Given the description of an element on the screen output the (x, y) to click on. 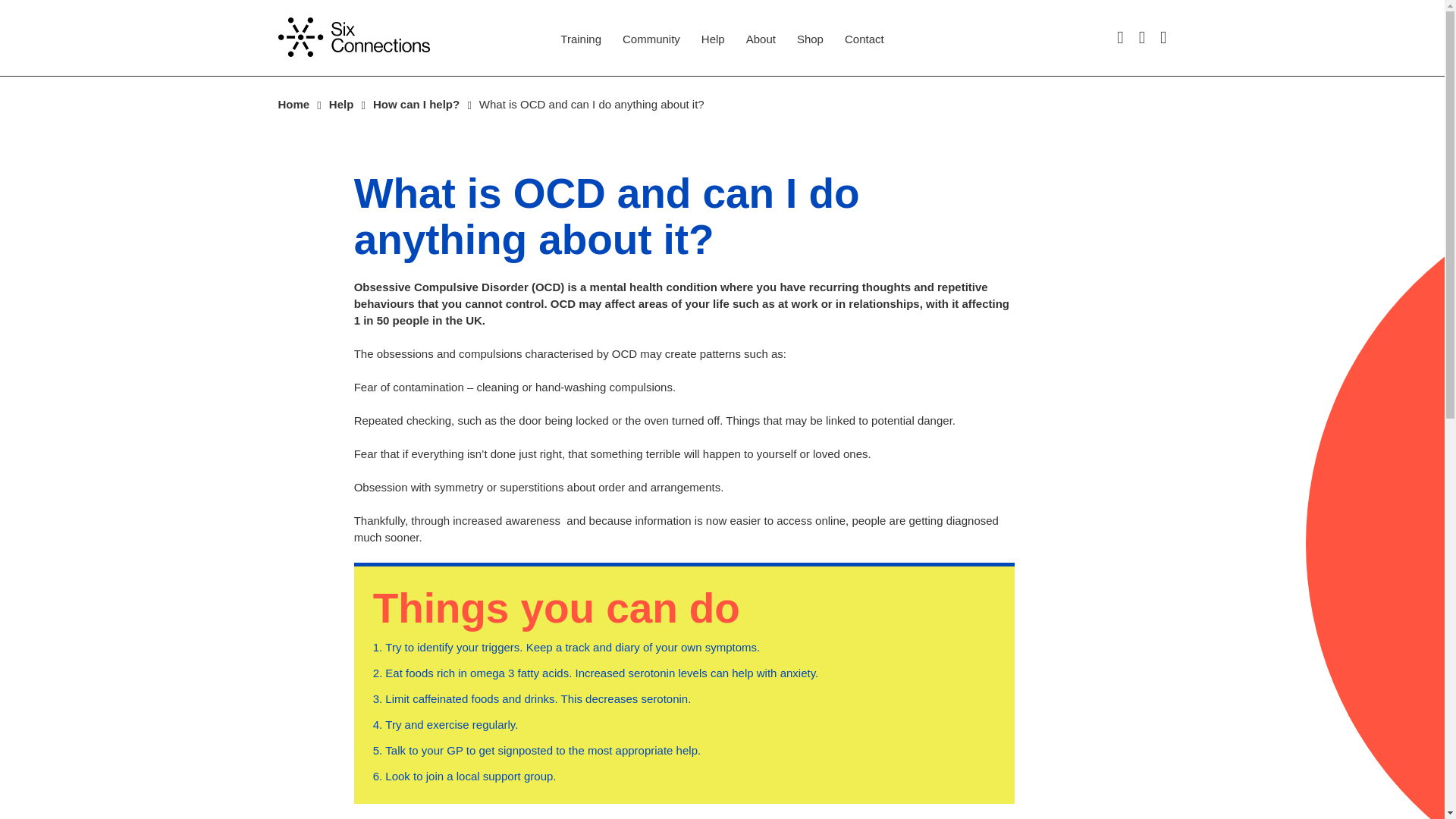
Training (580, 38)
Training (580, 38)
Go to How can I help?. (416, 104)
Go to Six Connections. (293, 104)
Home (293, 104)
Go to Help. (341, 104)
Community (651, 38)
Help (341, 104)
Contact (863, 38)
About (760, 38)
About (760, 38)
Community (651, 38)
How can I help? (416, 104)
Contact (863, 38)
